Given the description of an element on the screen output the (x, y) to click on. 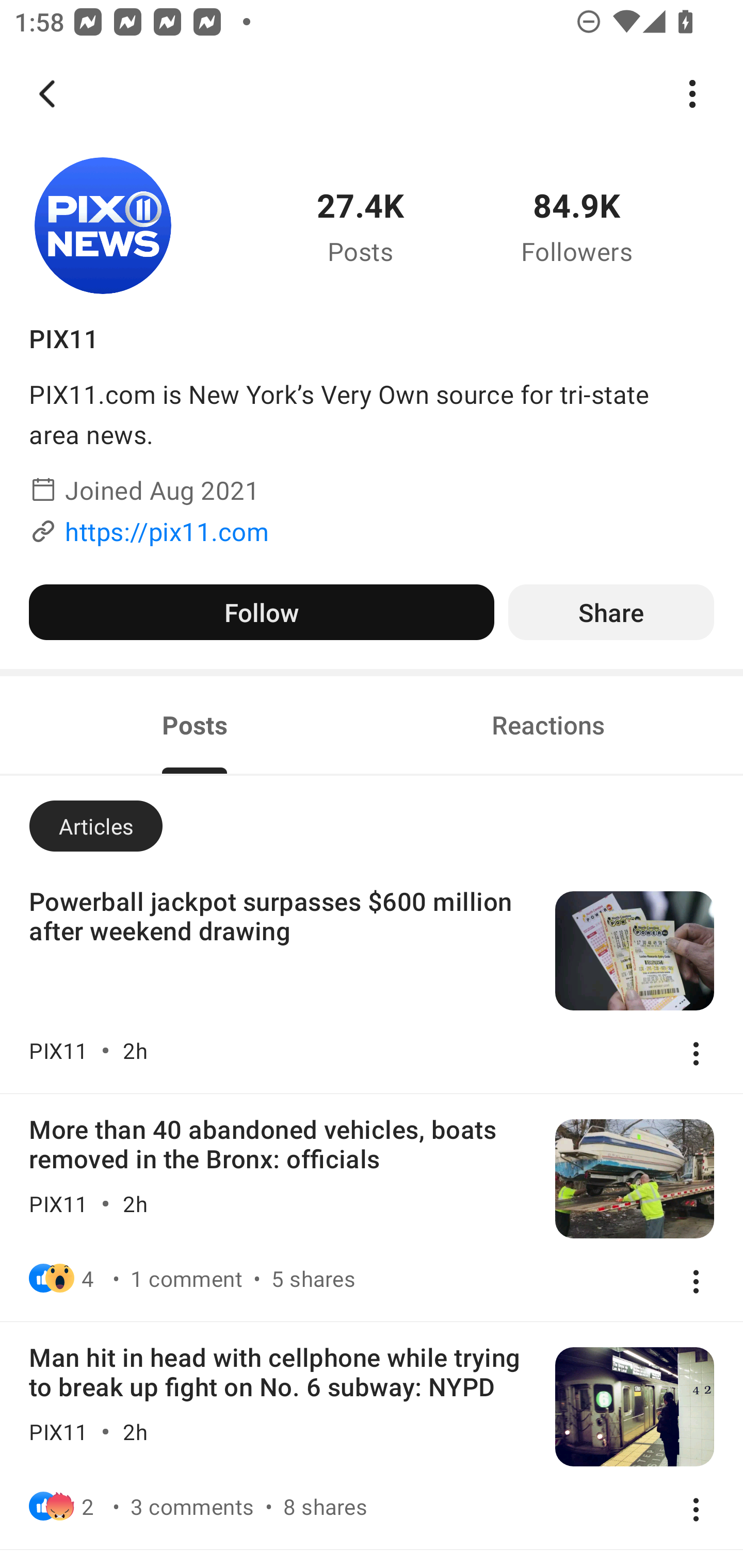
https://pix11.com (166, 531)
Follow (261, 611)
Share (611, 611)
Reactions (548, 724)
